Given the description of an element on the screen output the (x, y) to click on. 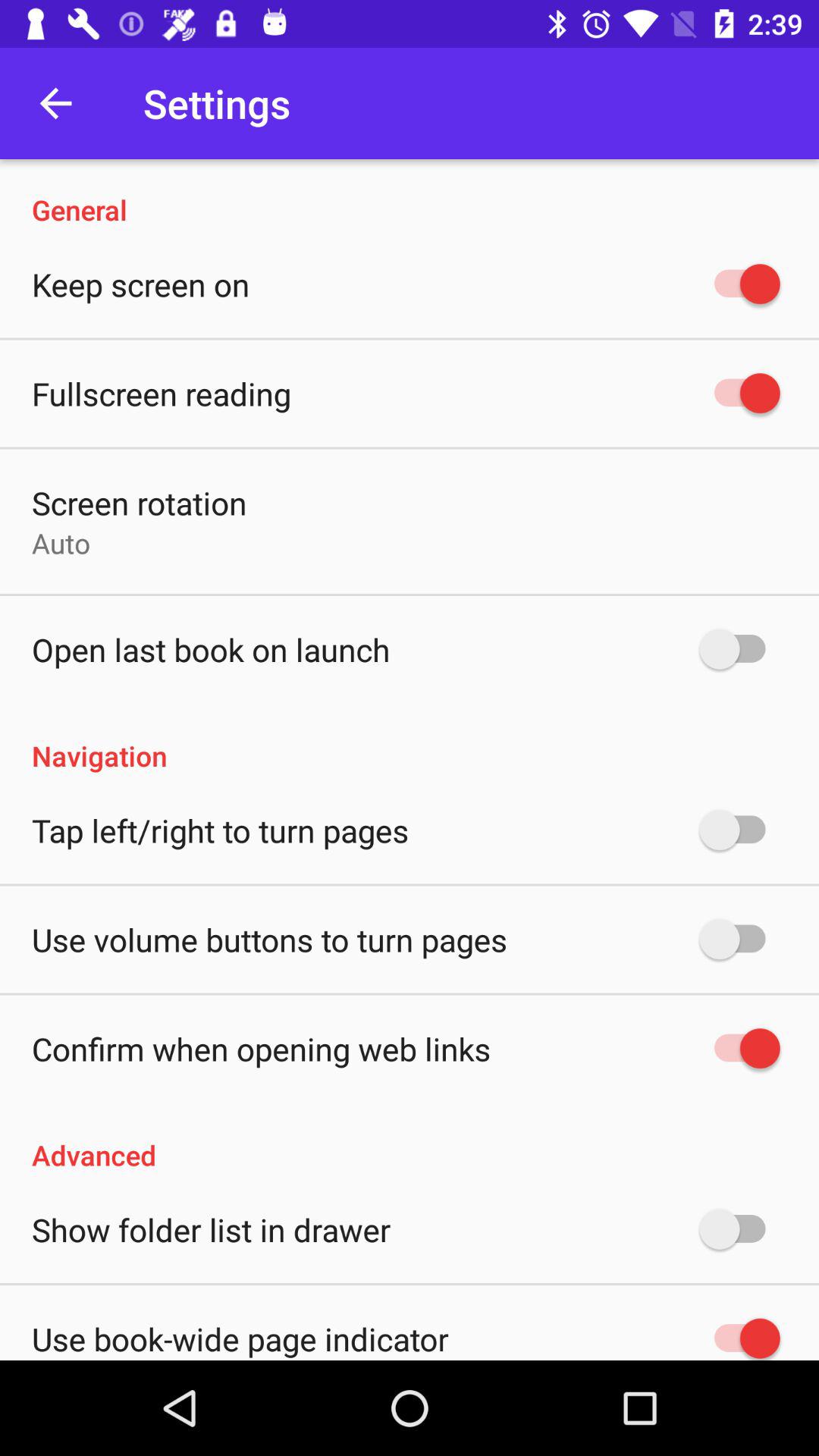
flip until the auto icon (60, 542)
